Given the description of an element on the screen output the (x, y) to click on. 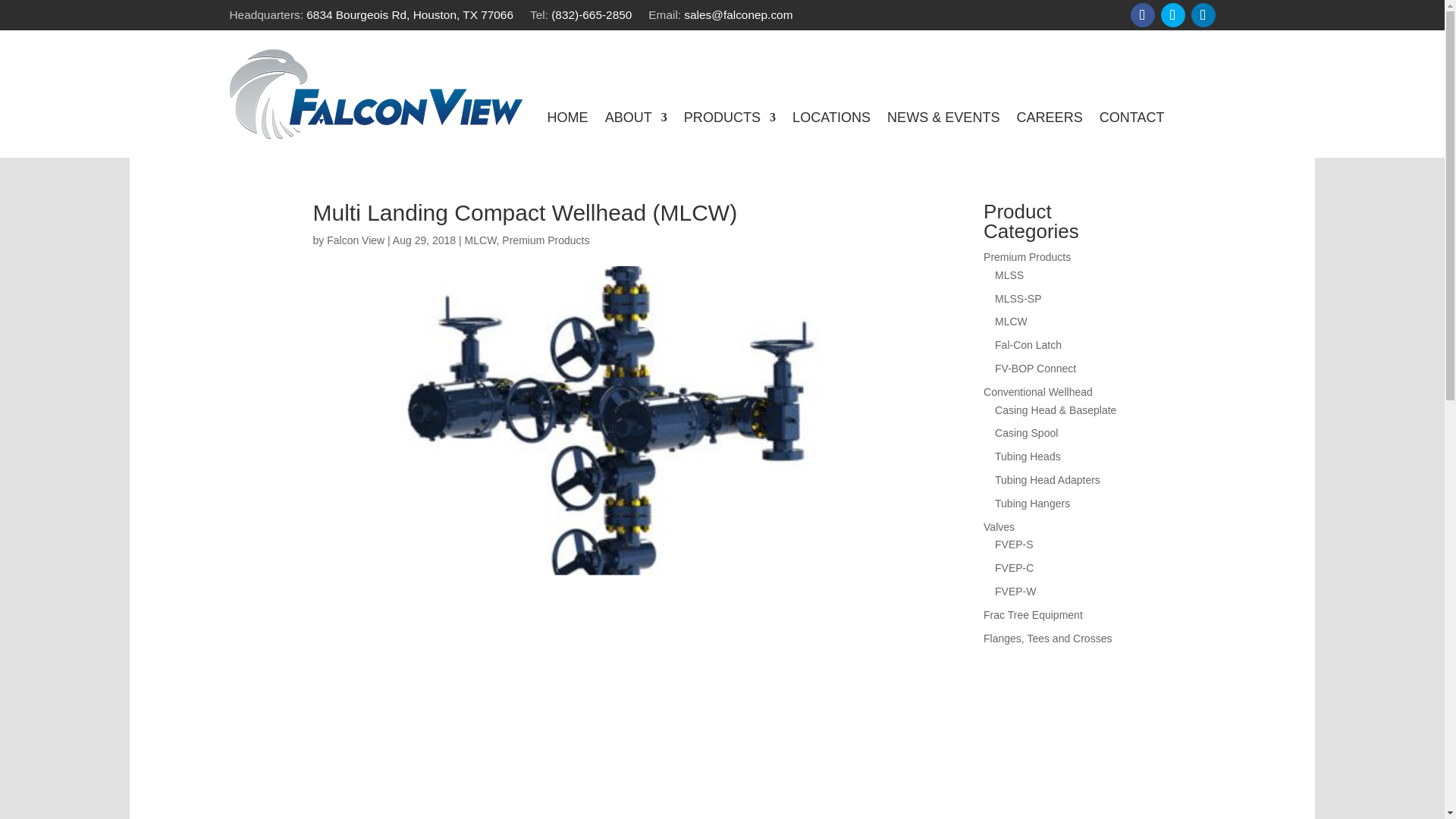
HOME (567, 120)
Tubing Hangers (1032, 503)
Frac Tree Equipment (1033, 614)
LOCATIONS (831, 120)
Falcon View (355, 240)
Tubing Heads (1027, 456)
MLCW (1010, 321)
Valves (999, 526)
Follow on Twitter (1172, 15)
FVEP-C (1013, 567)
CAREERS (1048, 120)
Conventional Wellhead (1038, 391)
Follow on LinkedIn (1202, 15)
CONTACT (1131, 120)
FVEP-S (1013, 544)
